Given the description of an element on the screen output the (x, y) to click on. 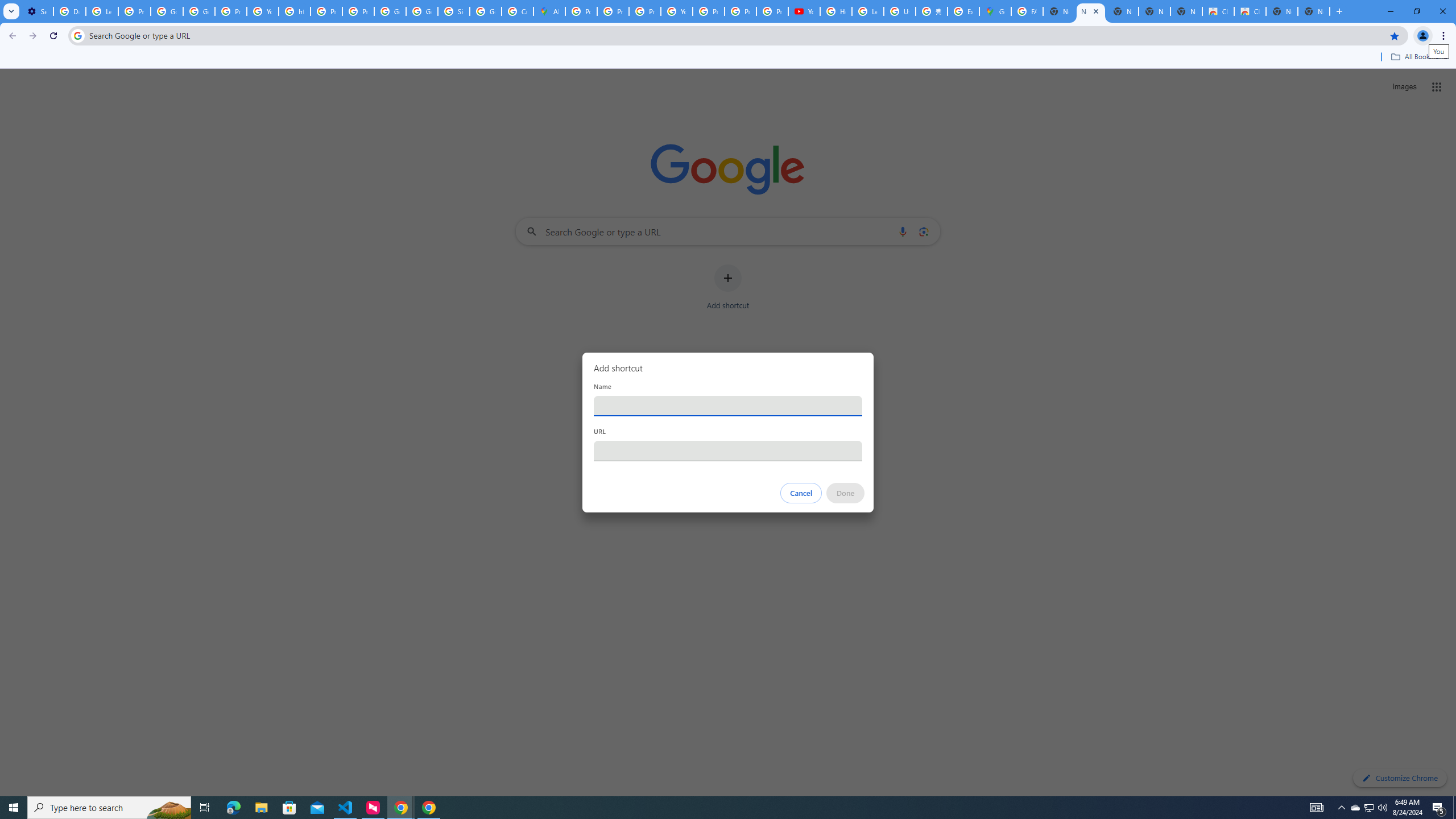
Done (845, 493)
Bookmarks (728, 58)
Google Account Help (166, 11)
YouTube (804, 11)
Policy Accountability and Transparency - Transparency Center (581, 11)
Classic Blue - Chrome Web Store (1217, 11)
Privacy Checkup (772, 11)
